Given the description of an element on the screen output the (x, y) to click on. 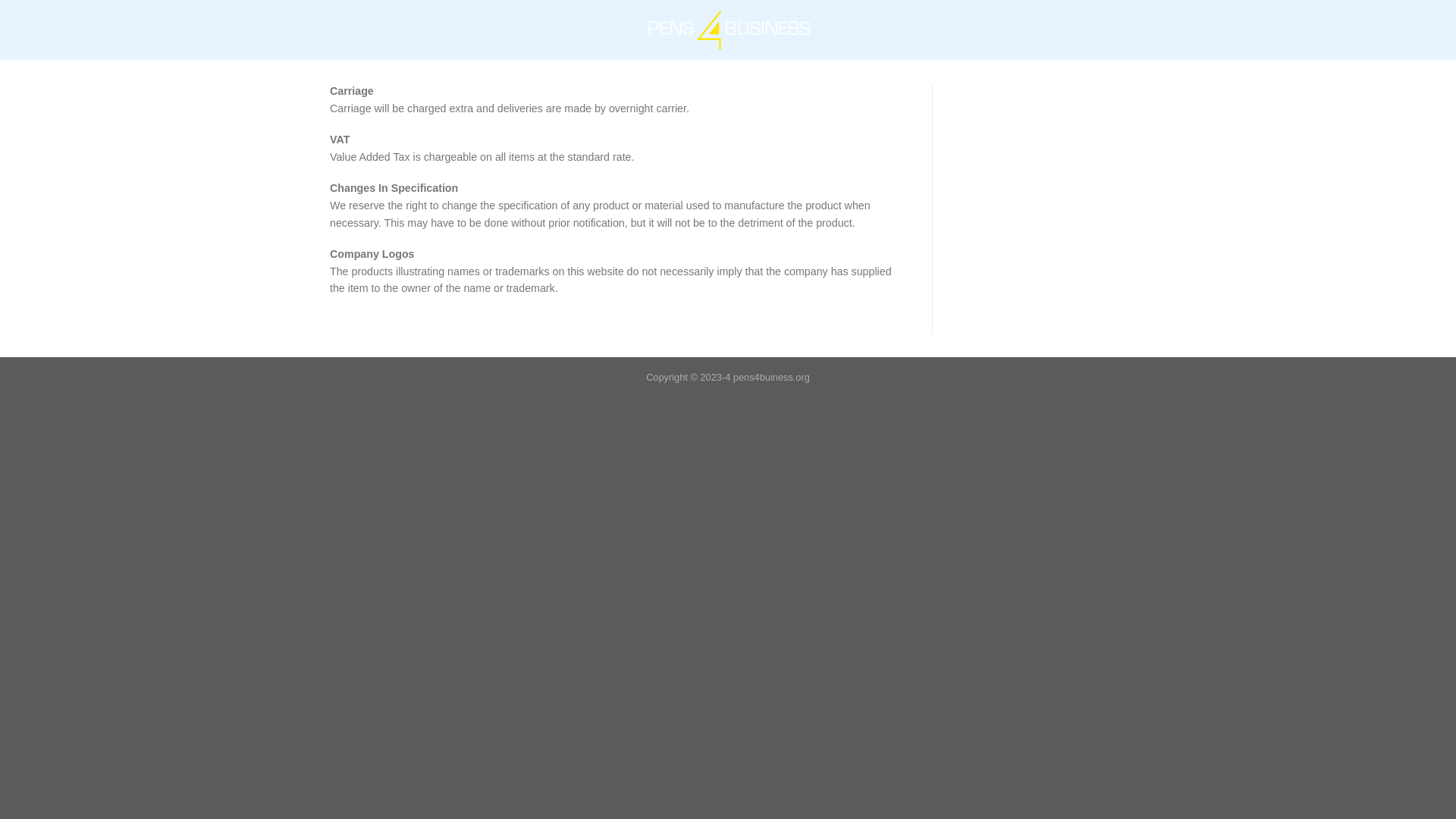
Pens 4 Business - Quality Writing Instruments (728, 29)
